Given the description of an element on the screen output the (x, y) to click on. 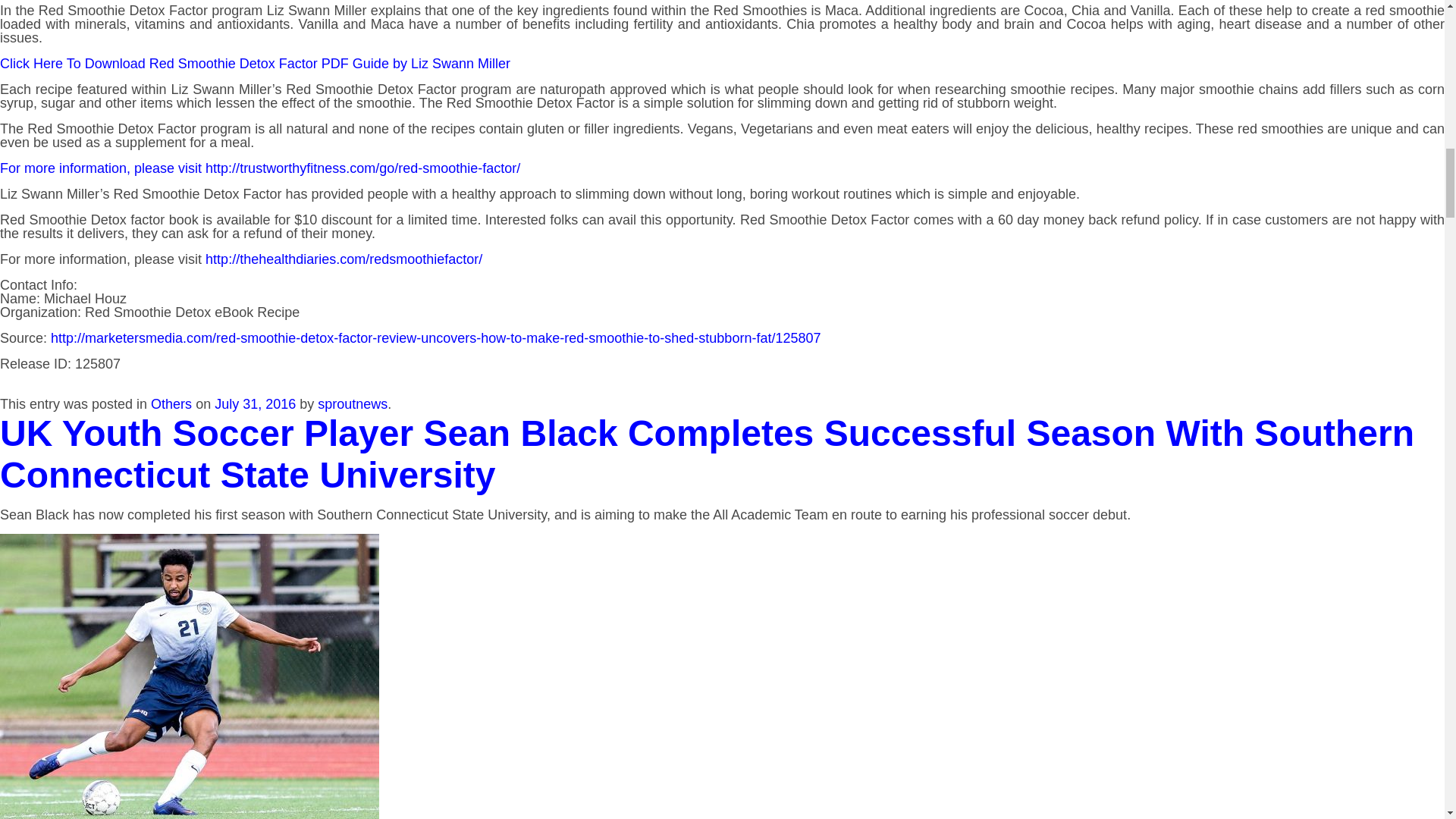
sproutnews (352, 403)
July 31, 2016 (254, 403)
Others (171, 403)
8:00 am (254, 403)
View all posts by sproutnews (352, 403)
